Given the description of an element on the screen output the (x, y) to click on. 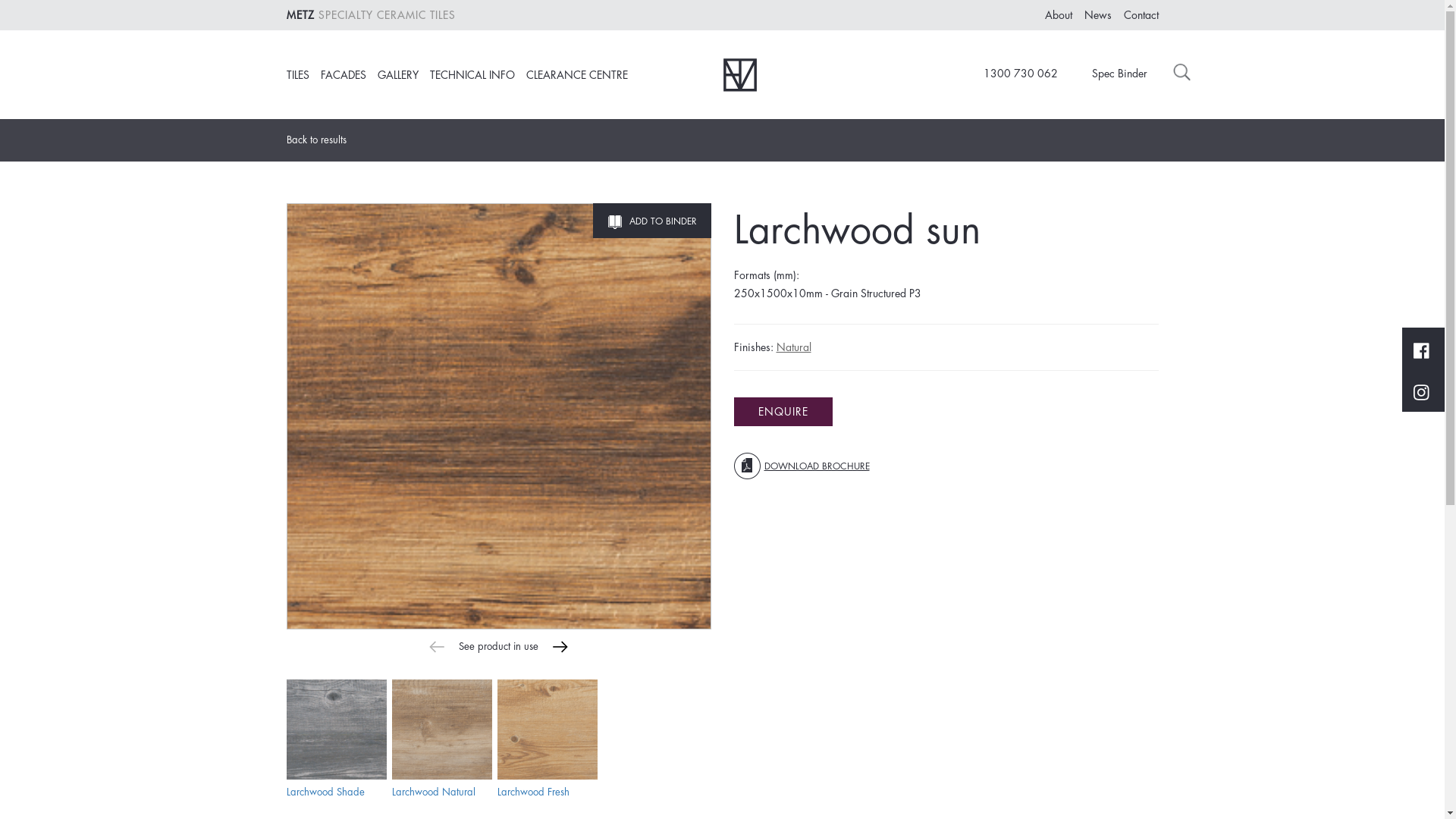
metz specialty ceramic tiles Element type: hover (739, 74)
Natural Element type: text (793, 347)
CLEARANCE CENTRE Element type: text (576, 74)
TECHNICAL INFO Element type: text (471, 74)
Larchwood Shade Element type: hover (336, 729)
DOWNLOAD BROCHURE Element type: text (801, 466)
Larchwood Shade Element type: text (325, 792)
Facebook Element type: hover (1421, 348)
Larchwood Fresh Element type: hover (547, 729)
News Element type: text (1097, 14)
Instagram Element type: hover (1421, 391)
1300 730 062 Element type: text (1011, 73)
GALLERY Element type: text (397, 74)
Spec Binder Element type: text (1109, 73)
About Element type: text (1058, 14)
TILES Element type: text (297, 74)
ENQUIRE Element type: text (783, 411)
FACADES Element type: text (342, 74)
Larchwood Natural Element type: text (432, 792)
Back to results Element type: text (321, 140)
Larchwood Fresh Element type: text (533, 792)
Add To Binder Element type: text (652, 220)
Larchwood Natural Element type: hover (441, 729)
Contact Element type: text (1140, 14)
